Given the description of an element on the screen output the (x, y) to click on. 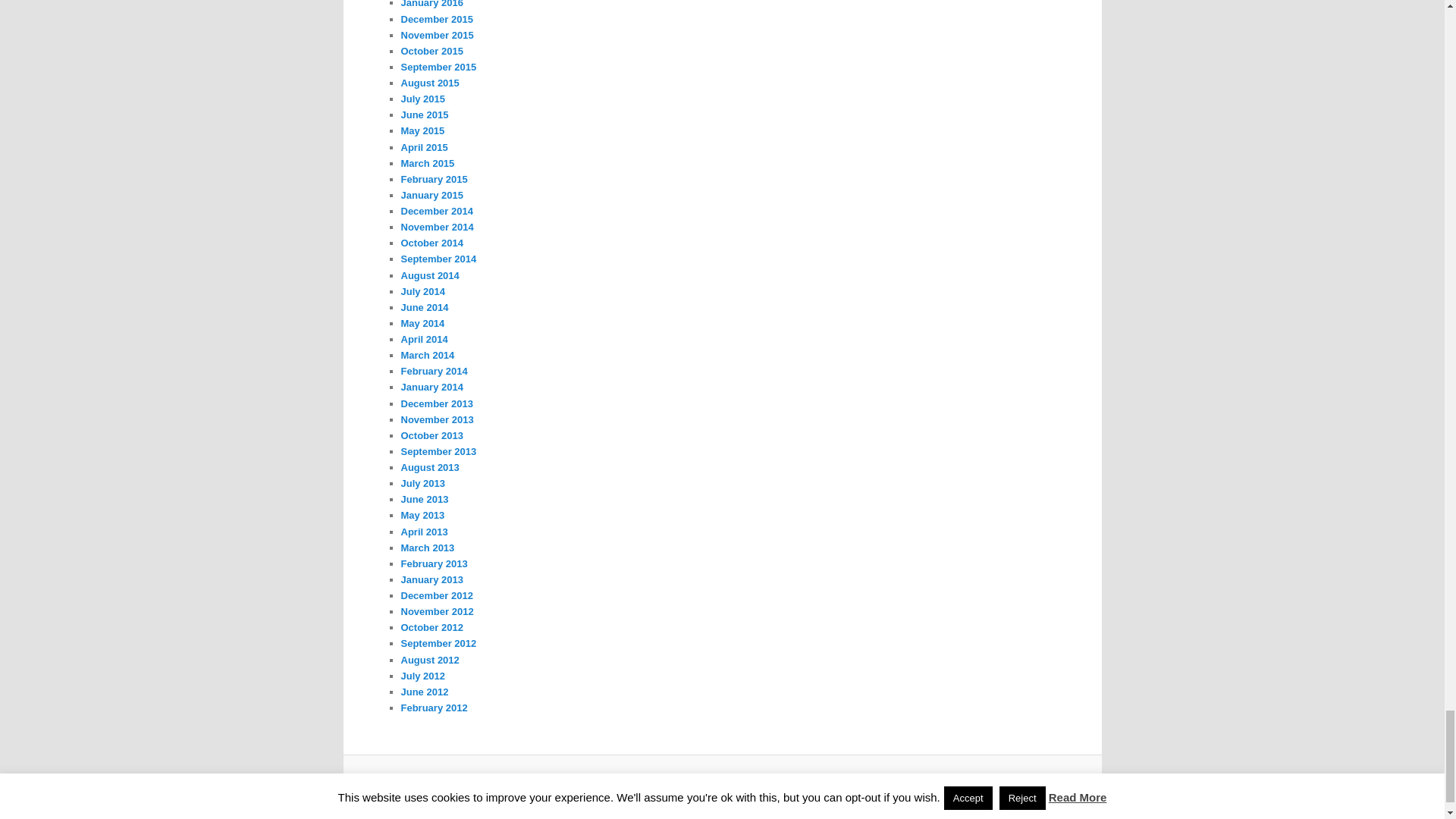
Semantic Personal Publishing Platform (749, 784)
